Given the description of an element on the screen output the (x, y) to click on. 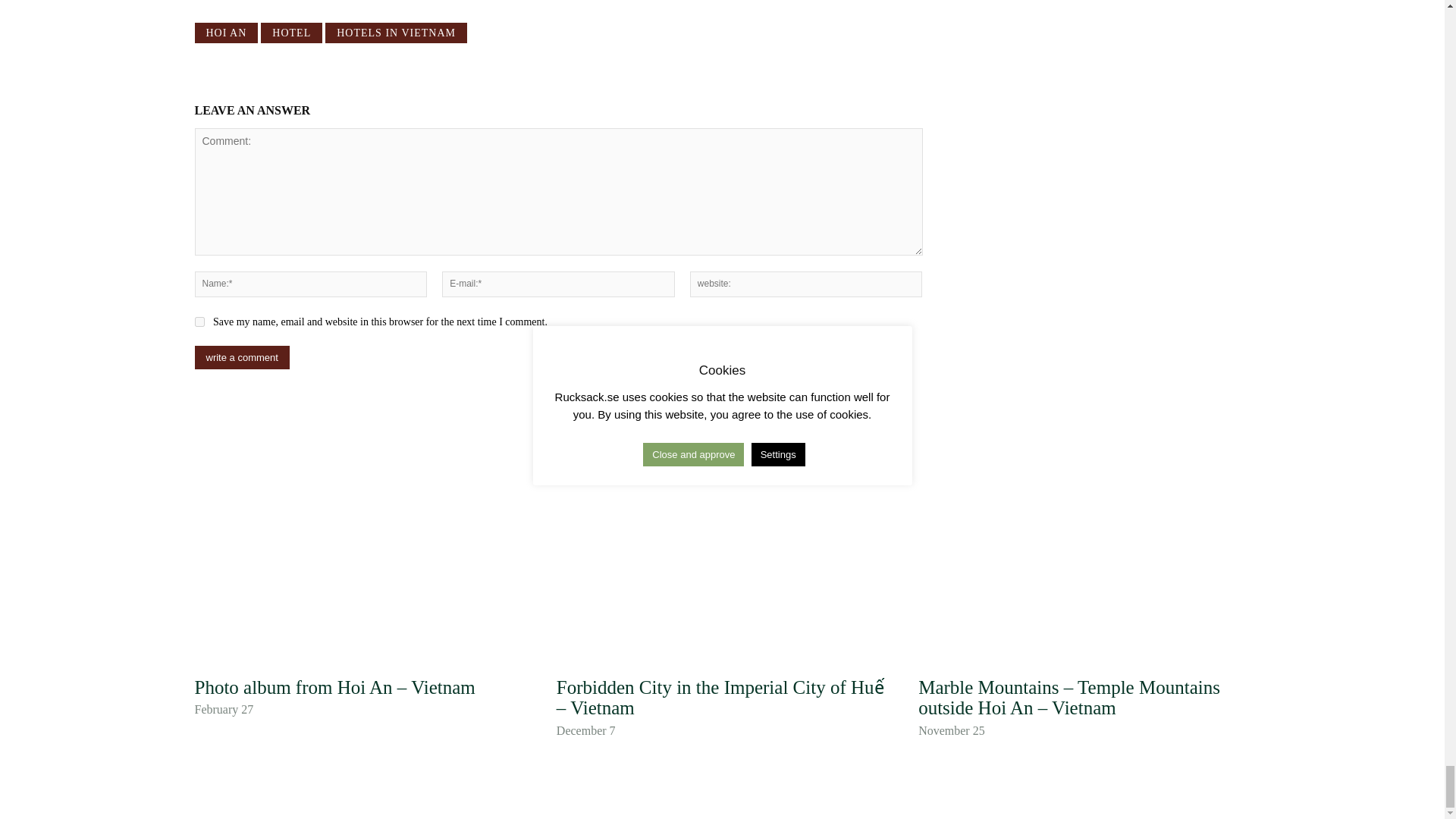
yes (198, 321)
write a comment (240, 357)
